Given the description of an element on the screen output the (x, y) to click on. 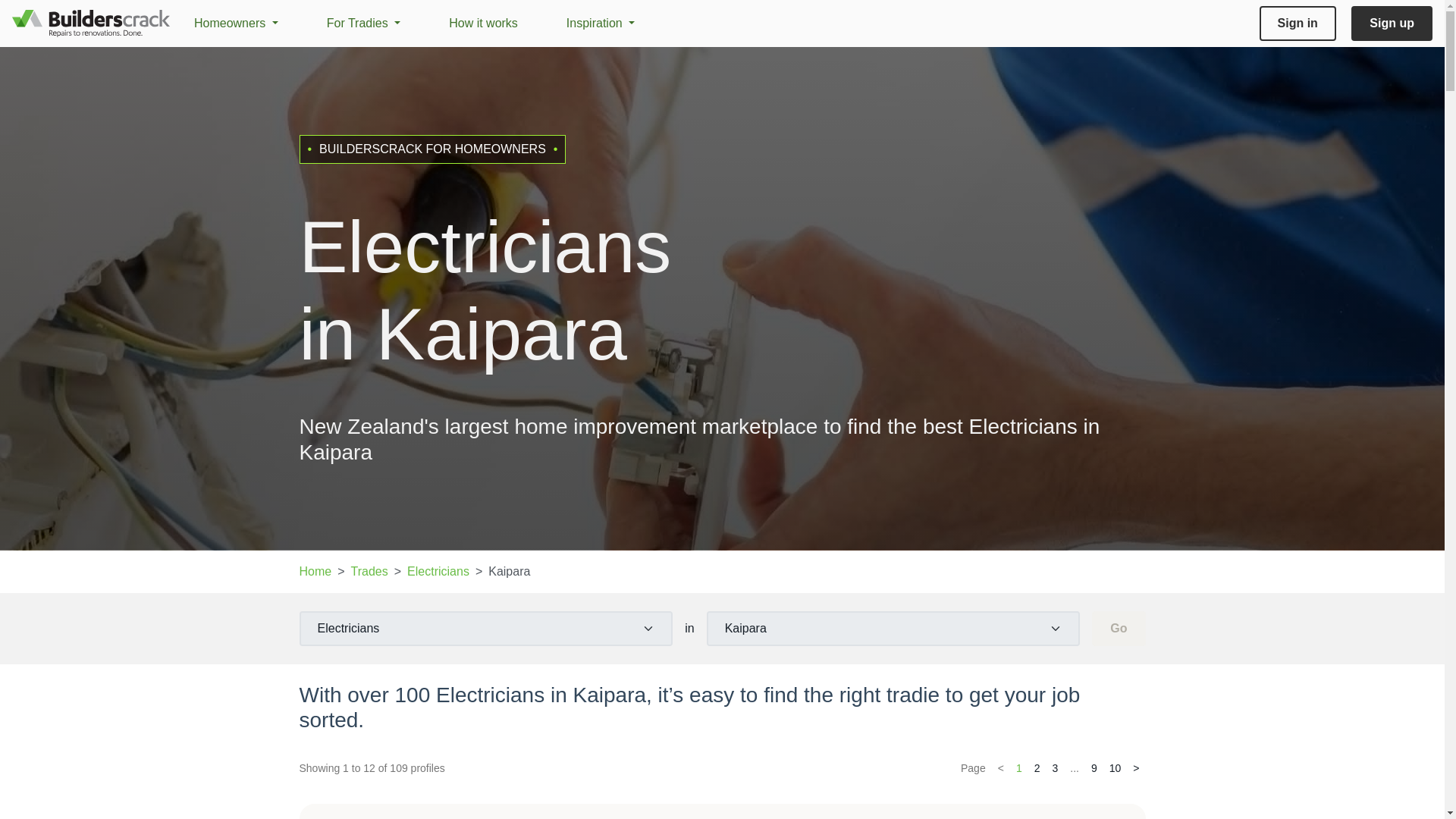
Trades (369, 571)
10 (1114, 768)
Go (1118, 628)
For Tradies (363, 22)
How it works (483, 22)
Homeowners (235, 22)
Sign in (1297, 22)
Electricians (437, 571)
Sign up (1391, 22)
Home (314, 571)
